Given the description of an element on the screen output the (x, y) to click on. 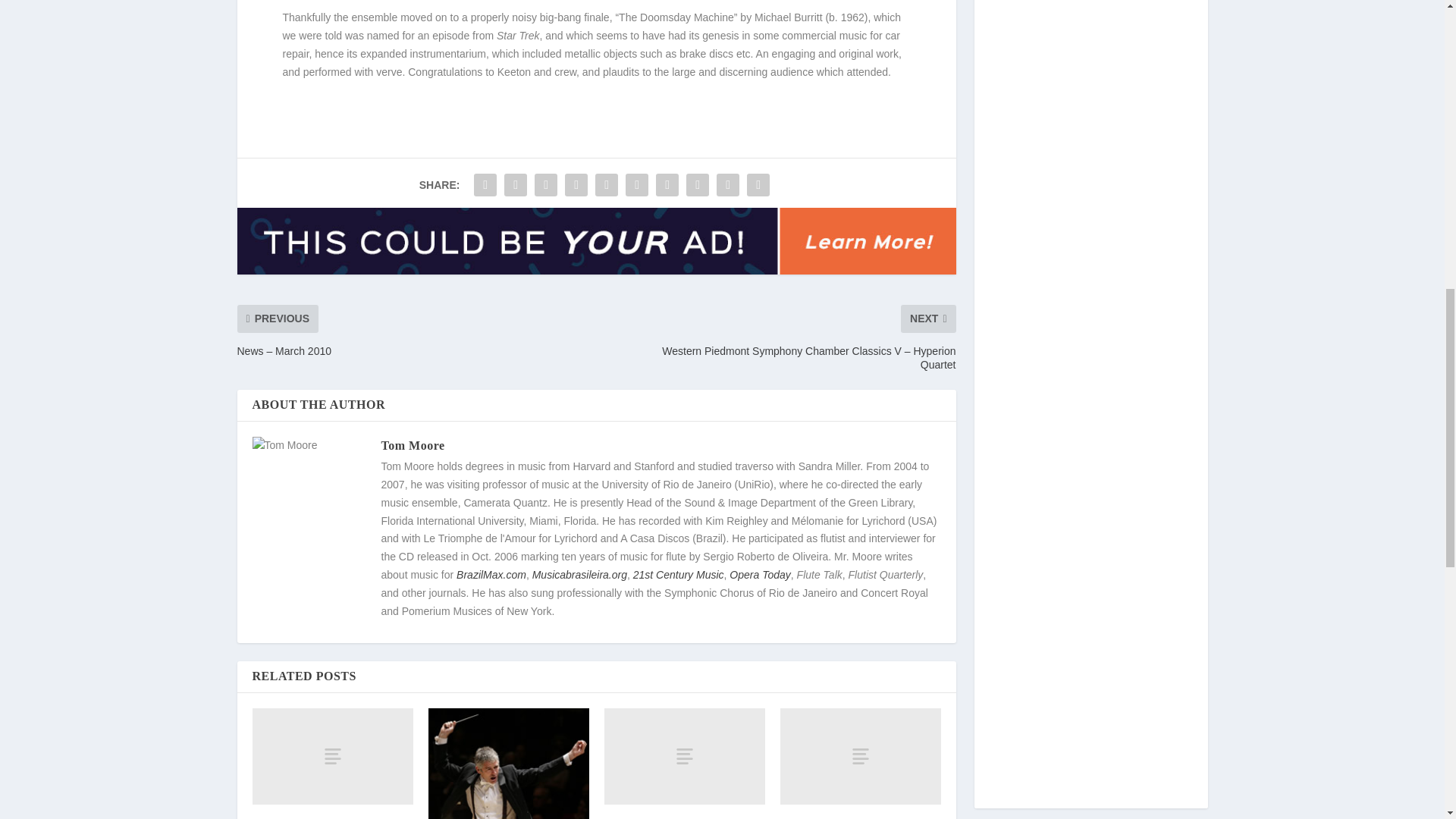
Share "UNCG Percussion Ensemble in Concert" via Print (757, 184)
Share "UNCG Percussion Ensemble in Concert" via LinkedIn (636, 184)
Share "UNCG Percussion Ensemble in Concert" via Twitter (515, 184)
Share "UNCG Percussion Ensemble in Concert" via Buffer (667, 184)
Share "UNCG Percussion Ensemble in Concert" via Email (727, 184)
Share "UNCG Percussion Ensemble in Concert" via Pinterest (606, 184)
Share "UNCG Percussion Ensemble in Concert" via Facebook (485, 184)
Share "UNCG Percussion Ensemble in Concert" via Stumbleupon (697, 184)
Share "UNCG Percussion Ensemble in Concert" via Tumblr (575, 184)
